Given the description of an element on the screen output the (x, y) to click on. 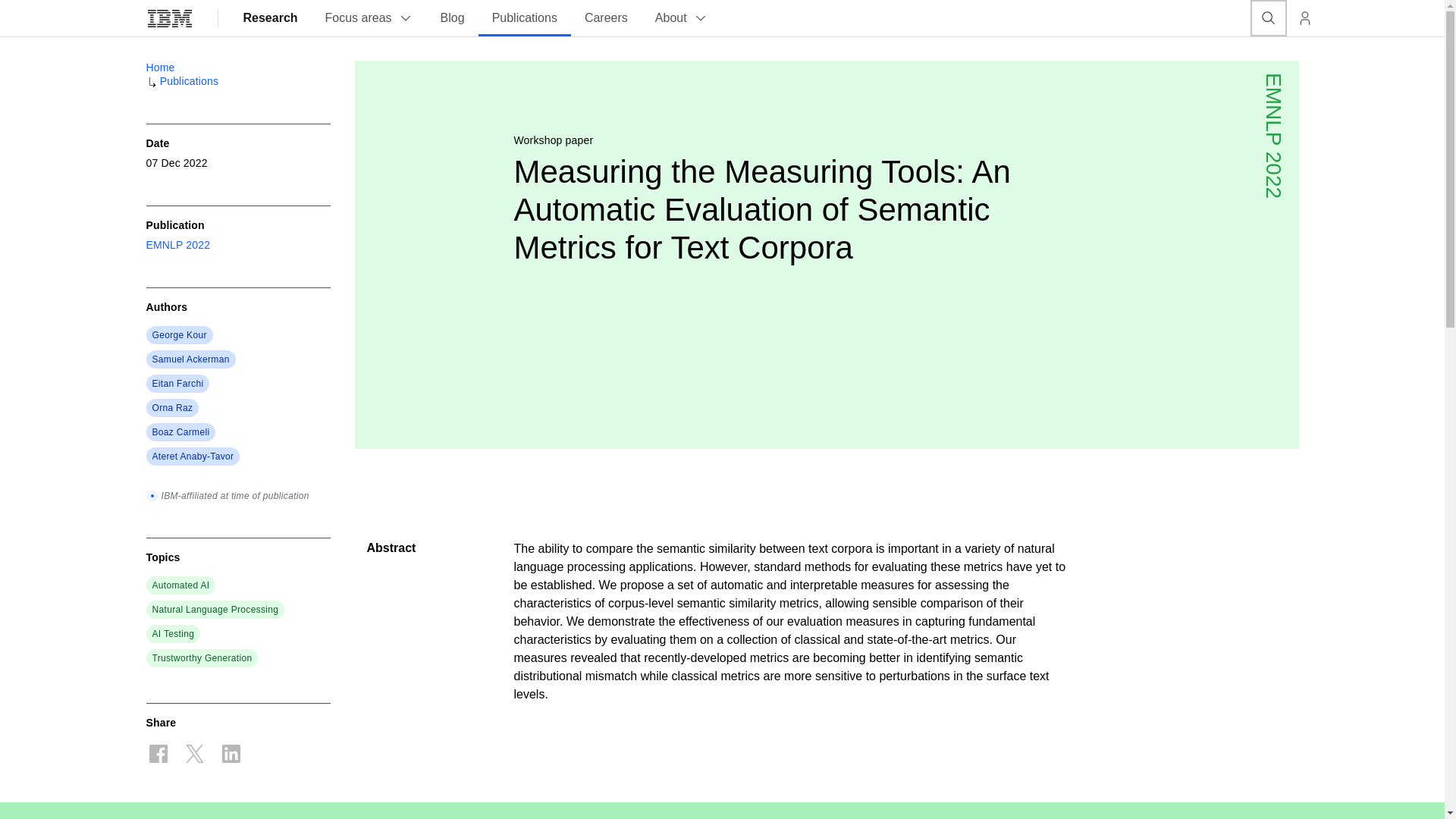
Eitan Farchi (177, 383)
George Kour (178, 335)
Boaz Carmeli (180, 431)
Automated AI (180, 585)
Natural Language Processing (214, 609)
AI Testing (172, 633)
Samuel Ackerman (189, 358)
Ateret Anaby-Tavor (191, 456)
Trustworthy Generation (201, 657)
